Given the description of an element on the screen output the (x, y) to click on. 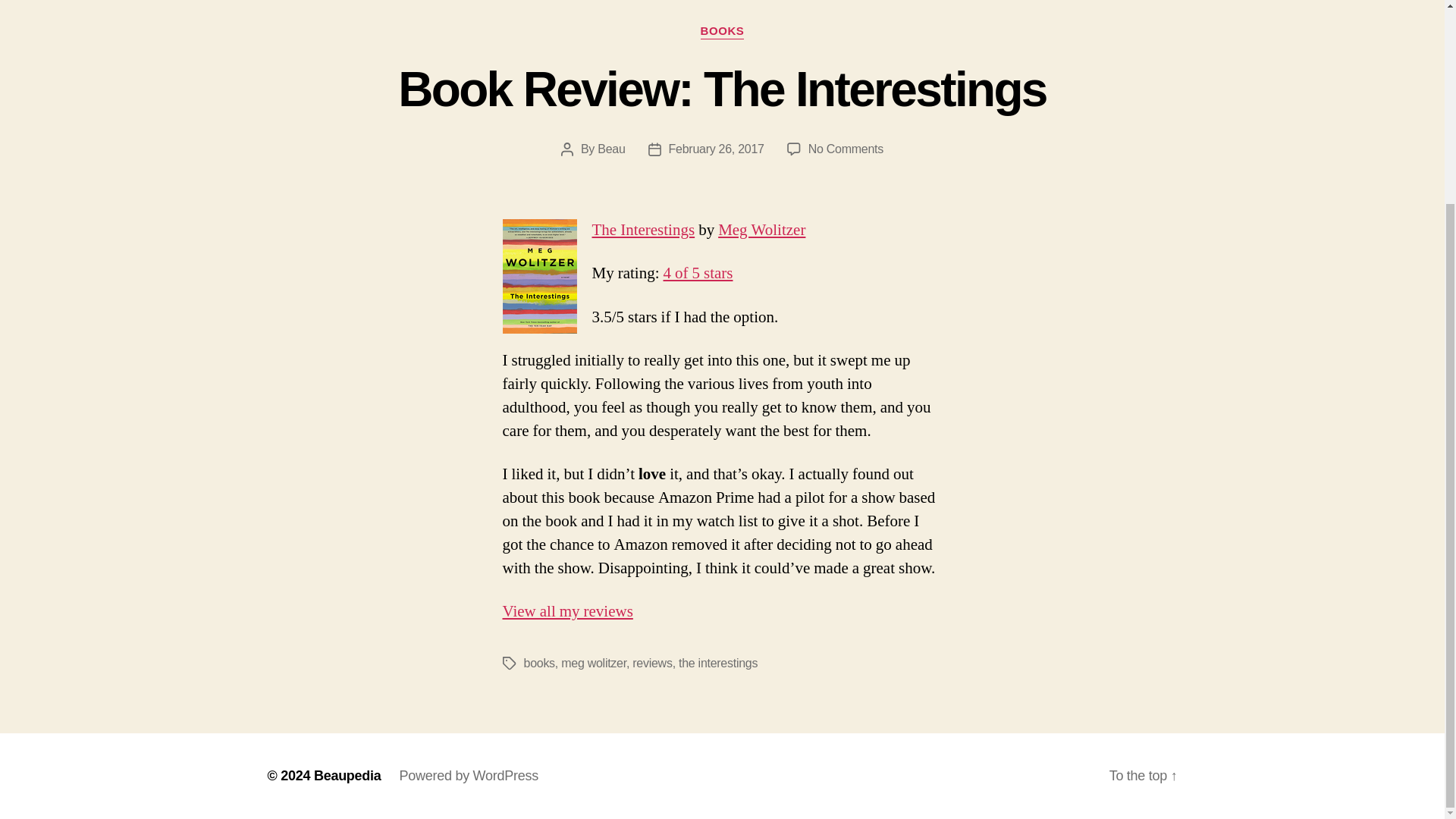
reviews (651, 662)
BOOKS (722, 31)
View all my reviews (845, 148)
the interestings (566, 611)
4 of 5 stars (717, 662)
Beau (697, 272)
February 26, 2017 (610, 148)
Powered by WordPress (716, 148)
meg wolitzer (468, 775)
